Given the description of an element on the screen output the (x, y) to click on. 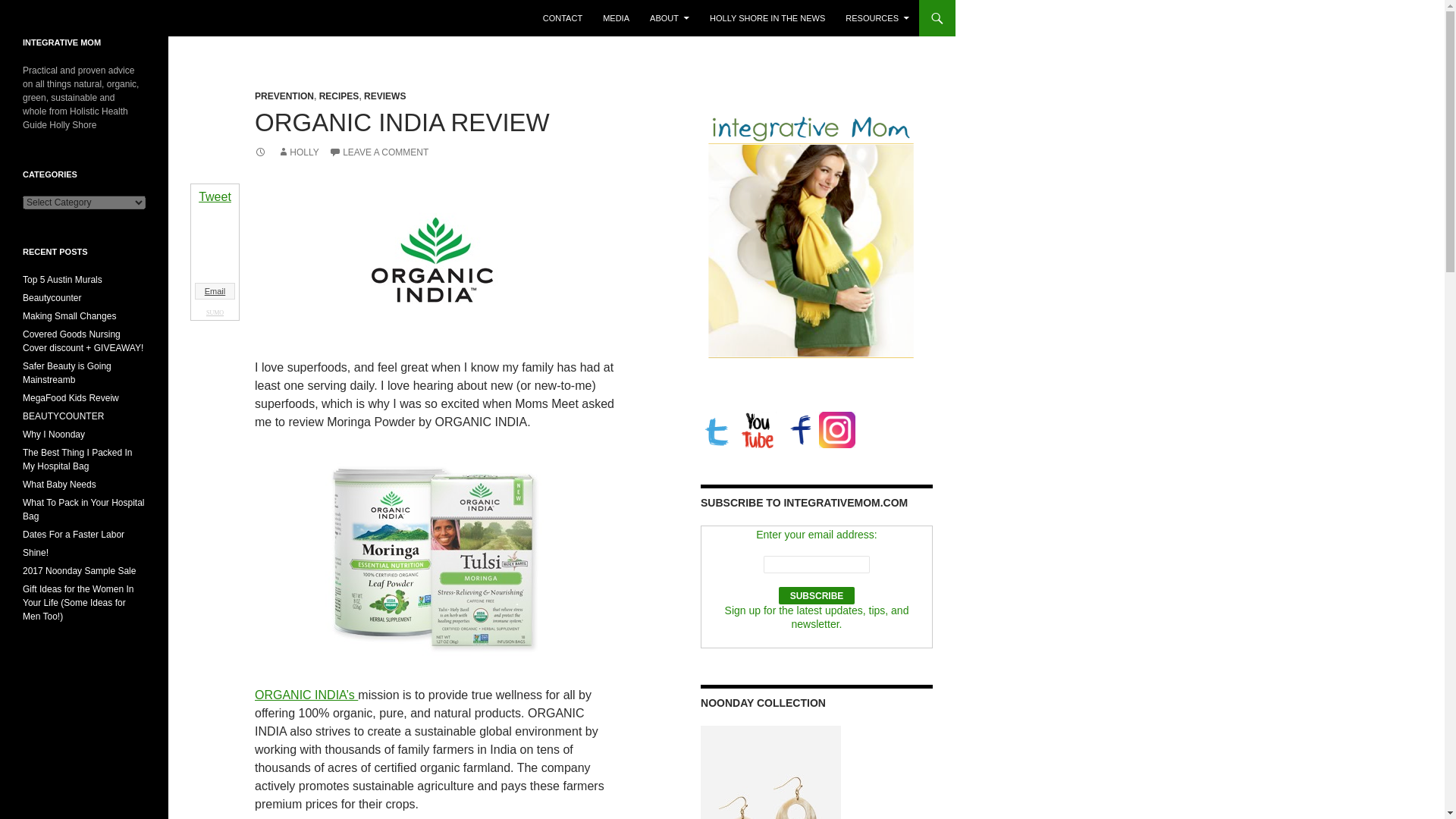
RECIPES (338, 95)
MEDIA (616, 18)
Subscribe (817, 595)
PREVENTION (284, 95)
ABOUT (669, 18)
HOLLY SHORE IN THE NEWS (767, 18)
REVIEWS (385, 95)
RESOURCES (876, 18)
CONTACT (562, 18)
